Given the description of an element on the screen output the (x, y) to click on. 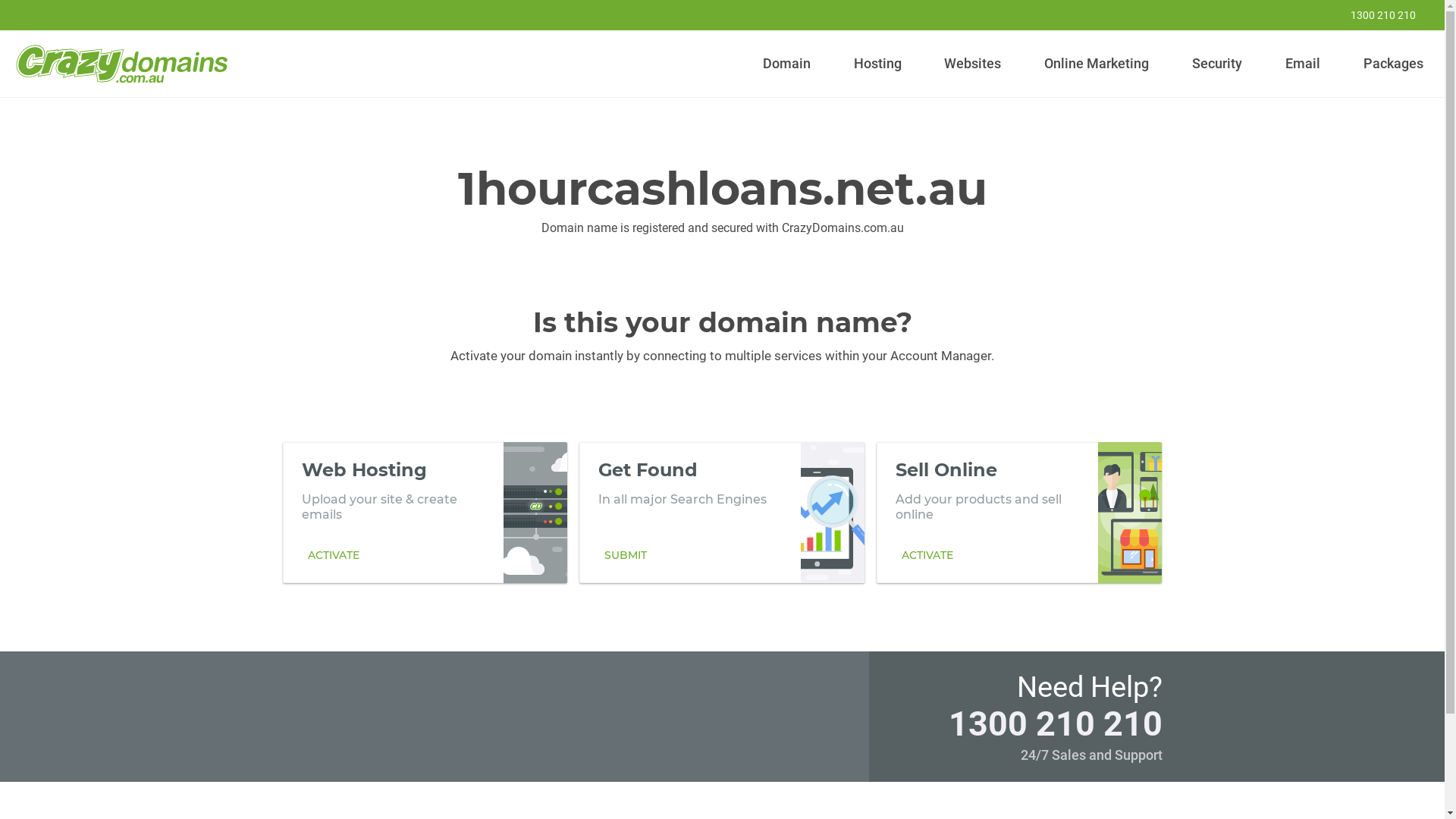
Hosting Element type: text (877, 63)
Email Element type: text (1302, 63)
Sell Online
Add your products and sell online
ACTIVATE Element type: text (1018, 511)
Websites Element type: text (972, 63)
1300 210 210 Element type: text (1054, 723)
1300 210 210 Element type: text (1373, 15)
Web Hosting
Upload your site & create emails
ACTIVATE Element type: text (424, 511)
Get Found
In all major Search Engines
SUBMIT Element type: text (721, 511)
Domain Element type: text (786, 63)
Online Marketing Element type: text (1096, 63)
Security Element type: text (1217, 63)
Packages Element type: text (1392, 63)
